Given the description of an element on the screen output the (x, y) to click on. 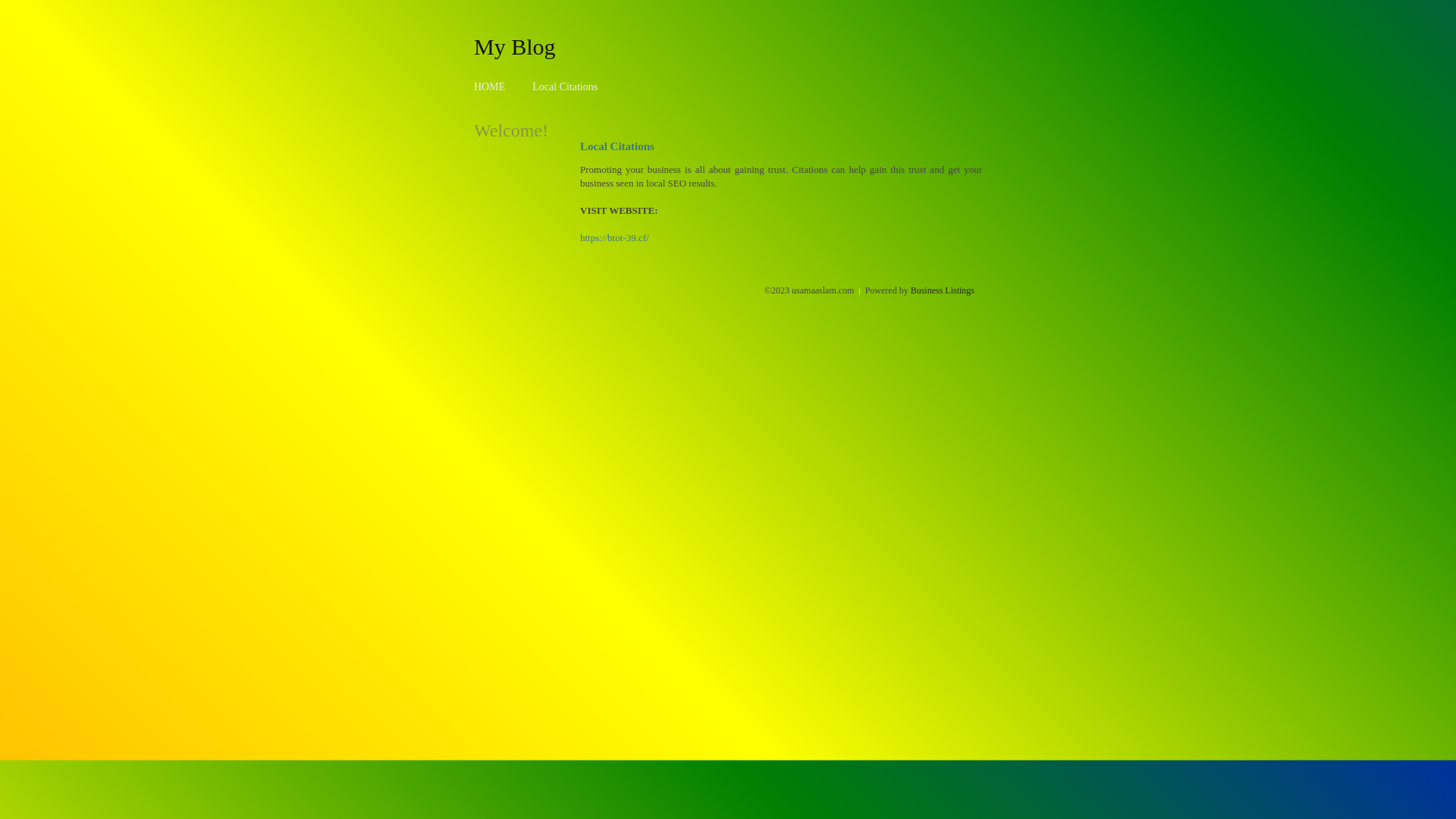
Local Citations Element type: text (564, 86)
HOME Element type: text (489, 86)
https://btot-39.cf/ Element type: text (614, 237)
My Blog Element type: text (514, 46)
Business Listings Element type: text (942, 290)
